Given the description of an element on the screen output the (x, y) to click on. 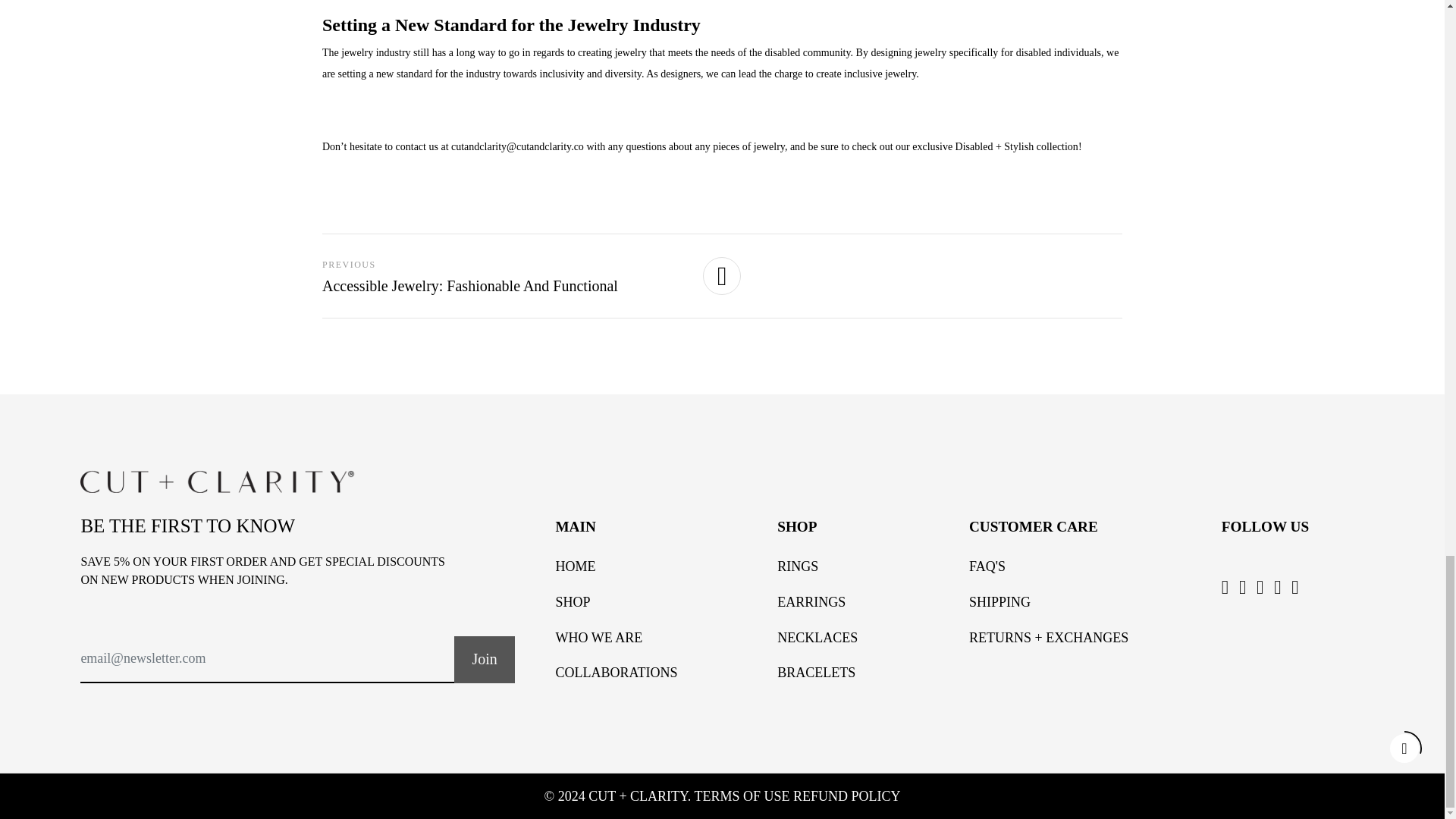
FAQ'S (987, 566)
Bracelets (816, 672)
Shop (571, 601)
Home (574, 566)
Collaborations (615, 672)
SHIPPING (999, 601)
Who We Are (598, 637)
Earrings (811, 601)
Necklaces (817, 637)
Rings (797, 566)
